Given the description of an element on the screen output the (x, y) to click on. 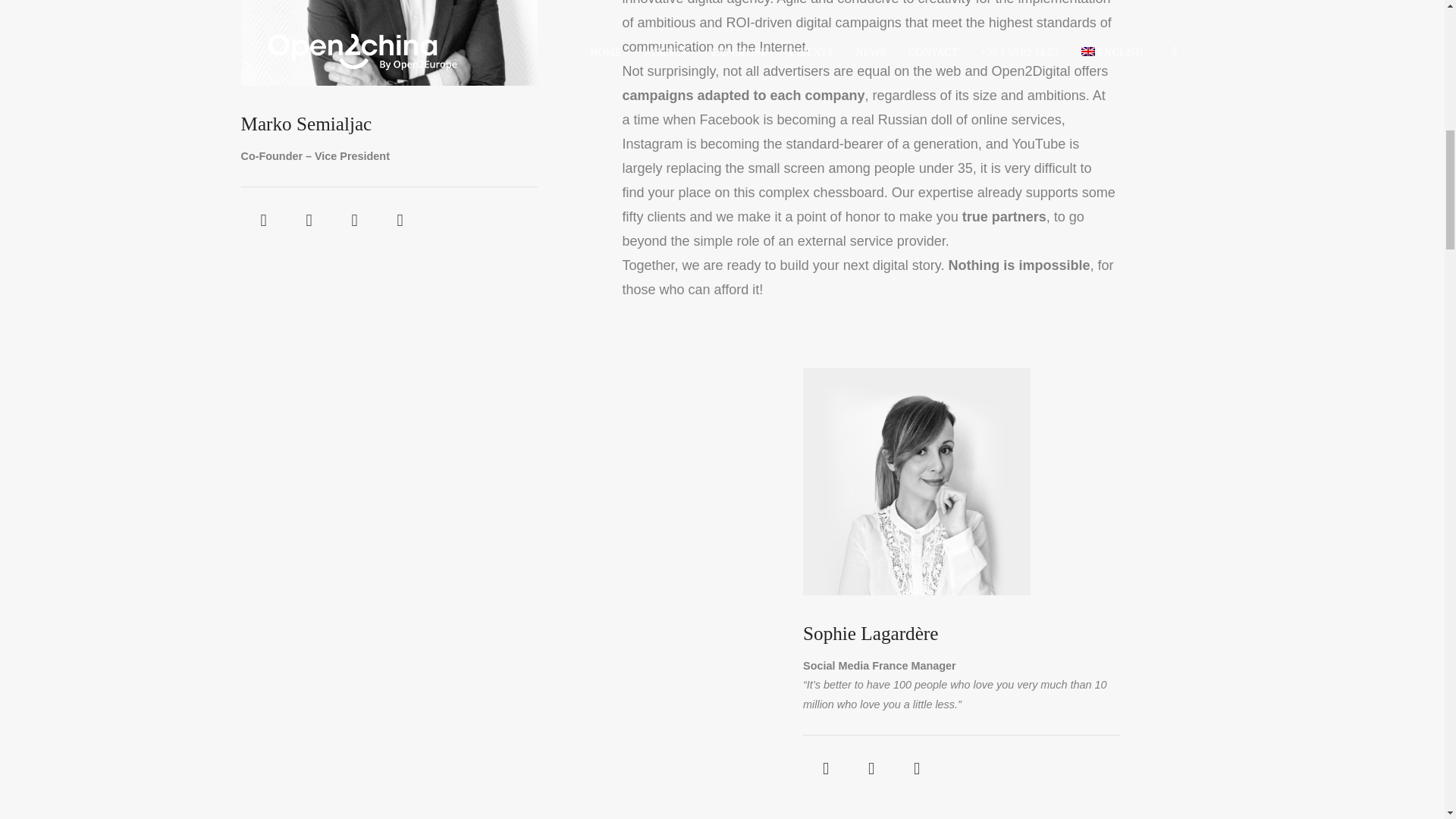
Marko Semialjac - Vice President Open2Digital (389, 43)
